Given the description of an element on the screen output the (x, y) to click on. 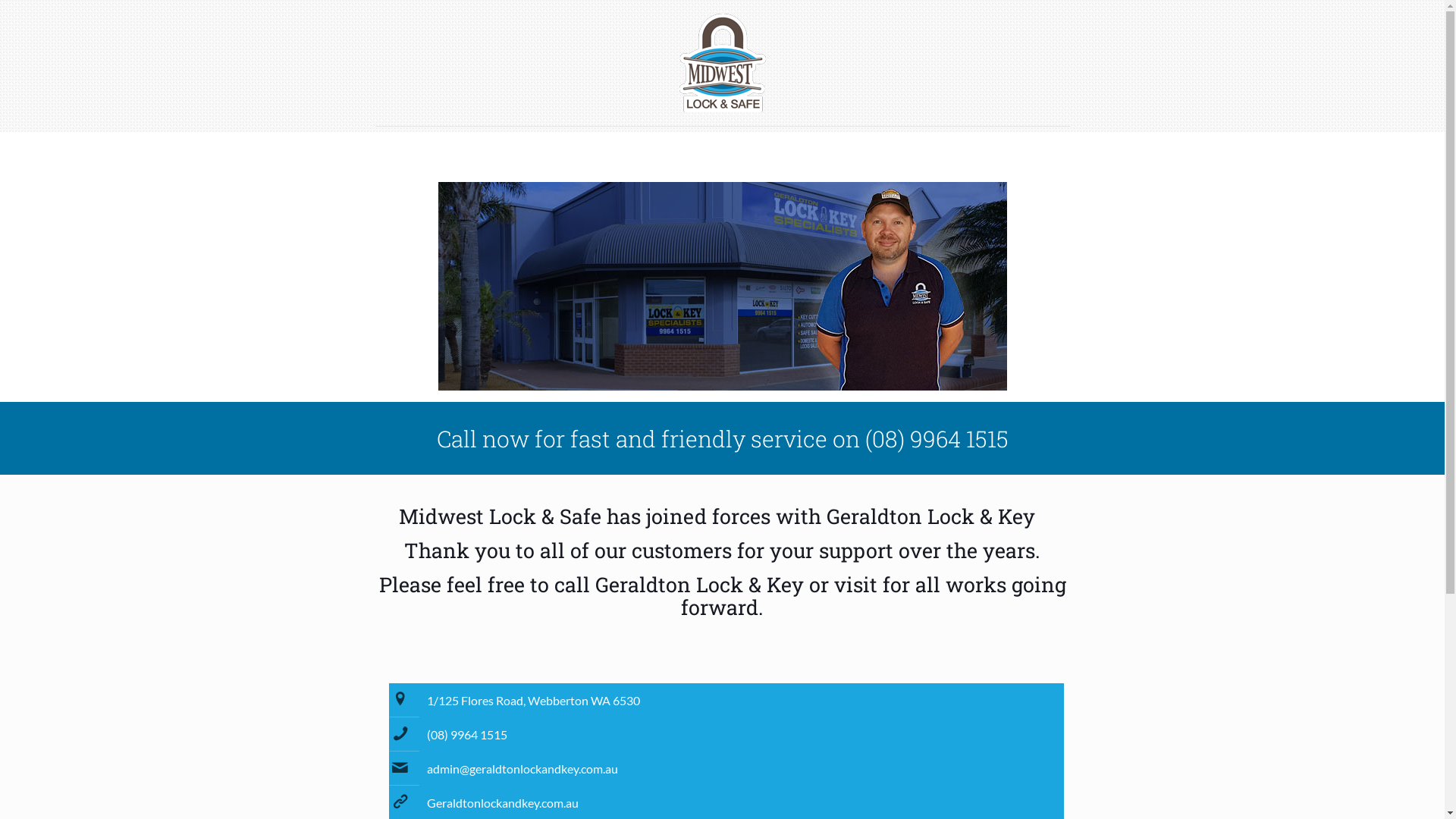
admin@geraldtonlockandkey.com.au Element type: text (521, 768)
Midwest Lock & Safe Element type: hover (721, 62)
(08) 9964 1515 Element type: text (466, 734)
Geraldton Lock & Key Element type: text (930, 515)
Geraldtonlockandkey.com.au Element type: text (501, 802)
